Given the description of an element on the screen output the (x, y) to click on. 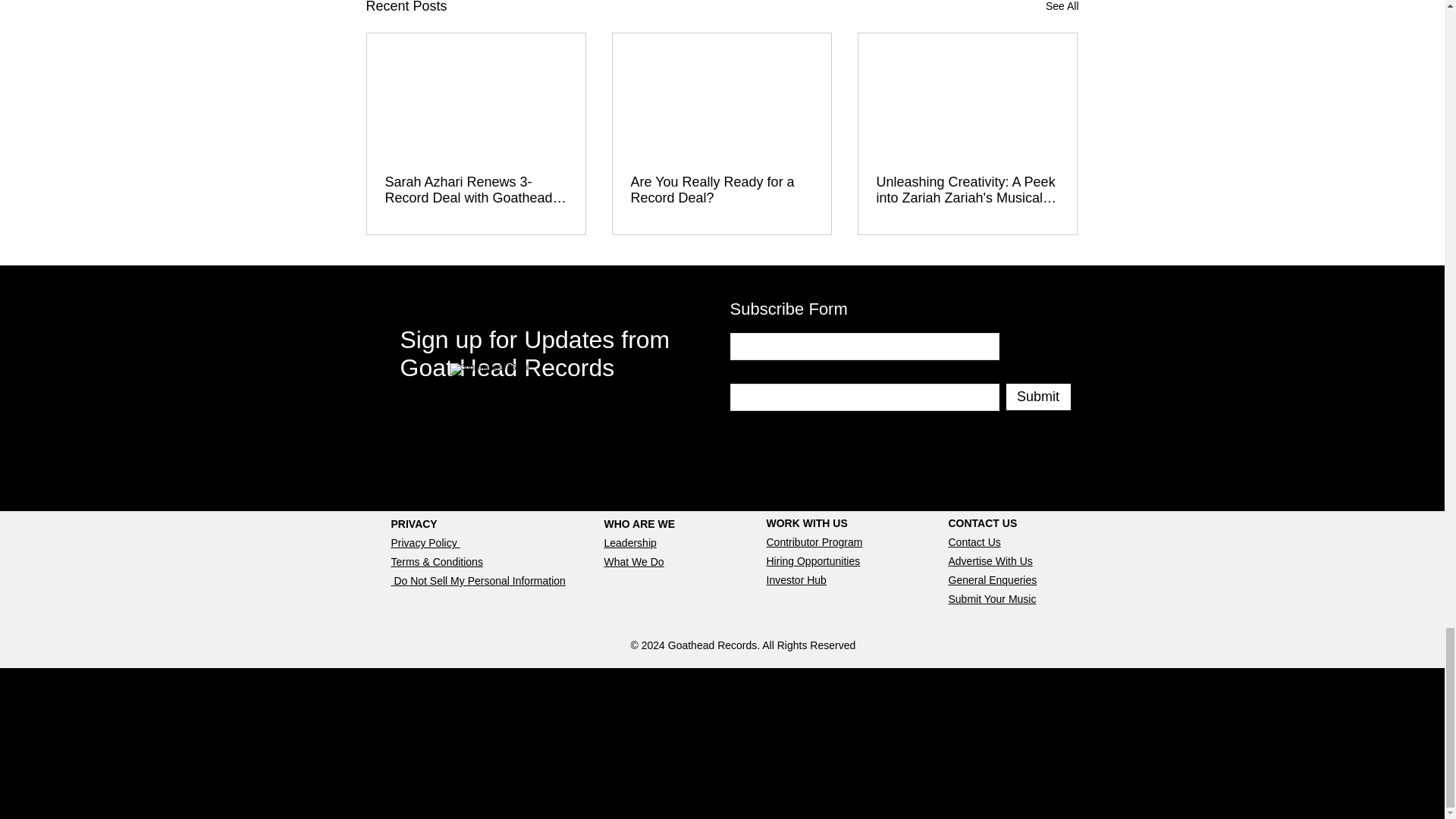
Privacy Policy  (425, 542)
Investor Hub (795, 580)
Leadership (630, 542)
Are You Really Ready for a Record Deal? (721, 190)
What We Do (633, 562)
See All (1061, 8)
Submit (1038, 397)
Contact Us (973, 541)
